Given the description of an element on the screen output the (x, y) to click on. 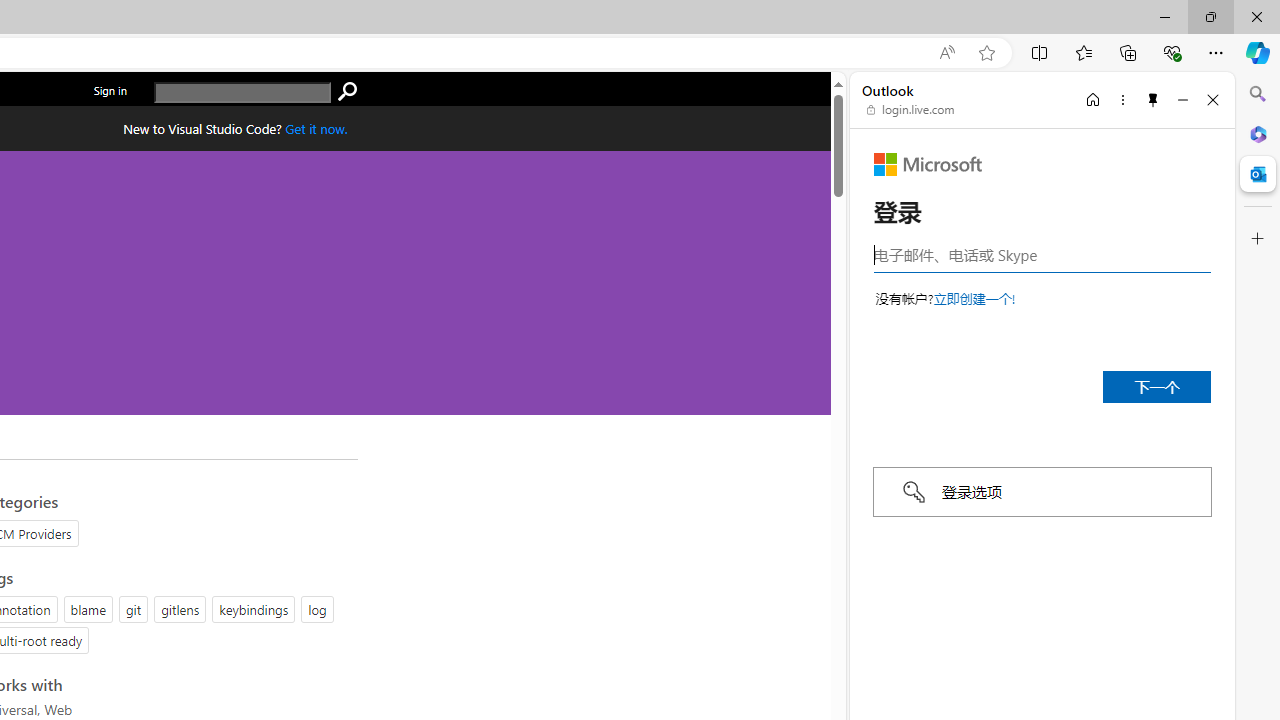
More options (1122, 99)
Outlook (1258, 174)
Customize (1258, 239)
Home (1093, 99)
Get Visual Studio Code Now (316, 128)
Sign in (109, 89)
Favorites (1083, 52)
Microsoft (927, 164)
Microsoft 365 (1258, 133)
Search (1258, 94)
